Given the description of an element on the screen output the (x, y) to click on. 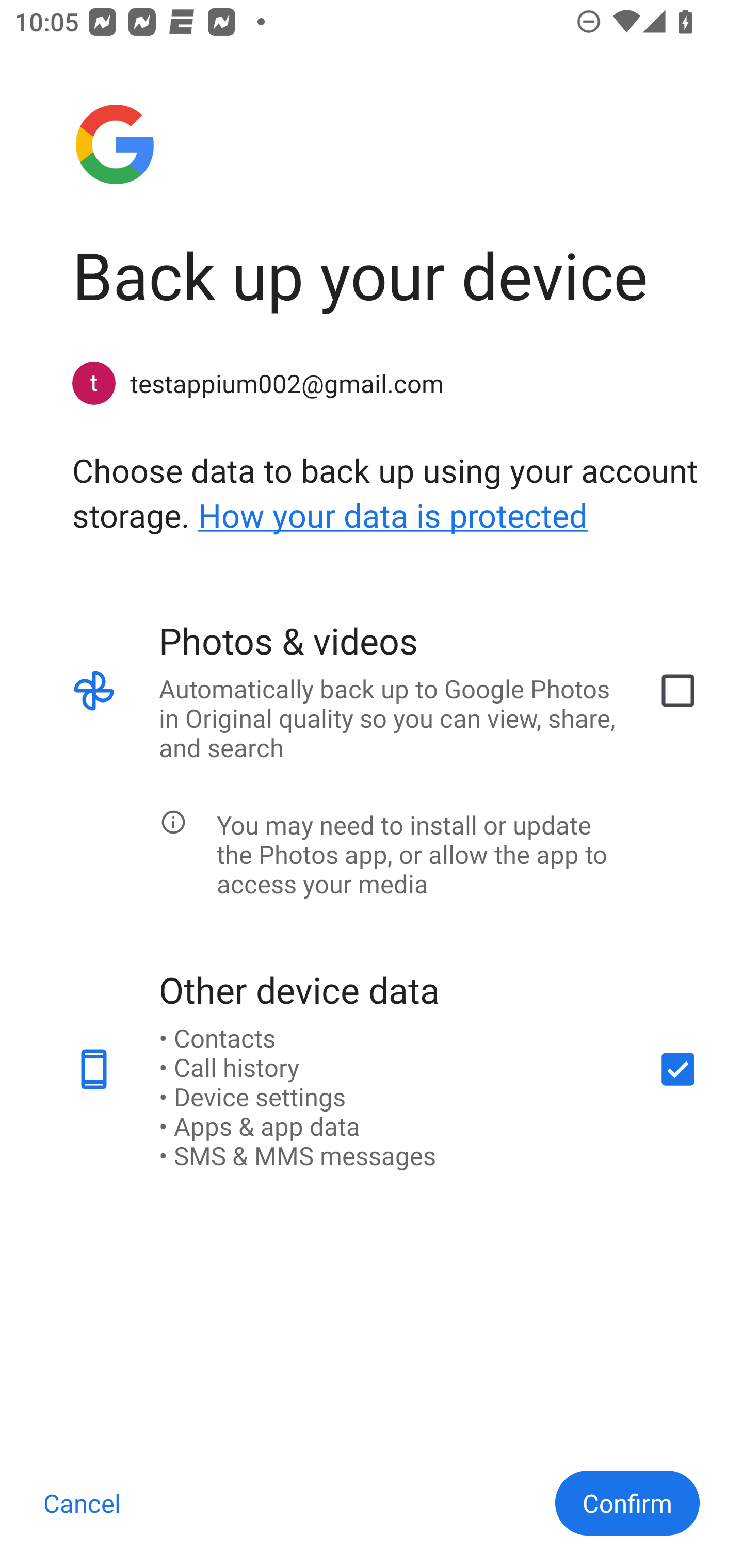
testappium002@gmail.com (385, 383)
Cancel (81, 1502)
Confirm (627, 1502)
